Given the description of an element on the screen output the (x, y) to click on. 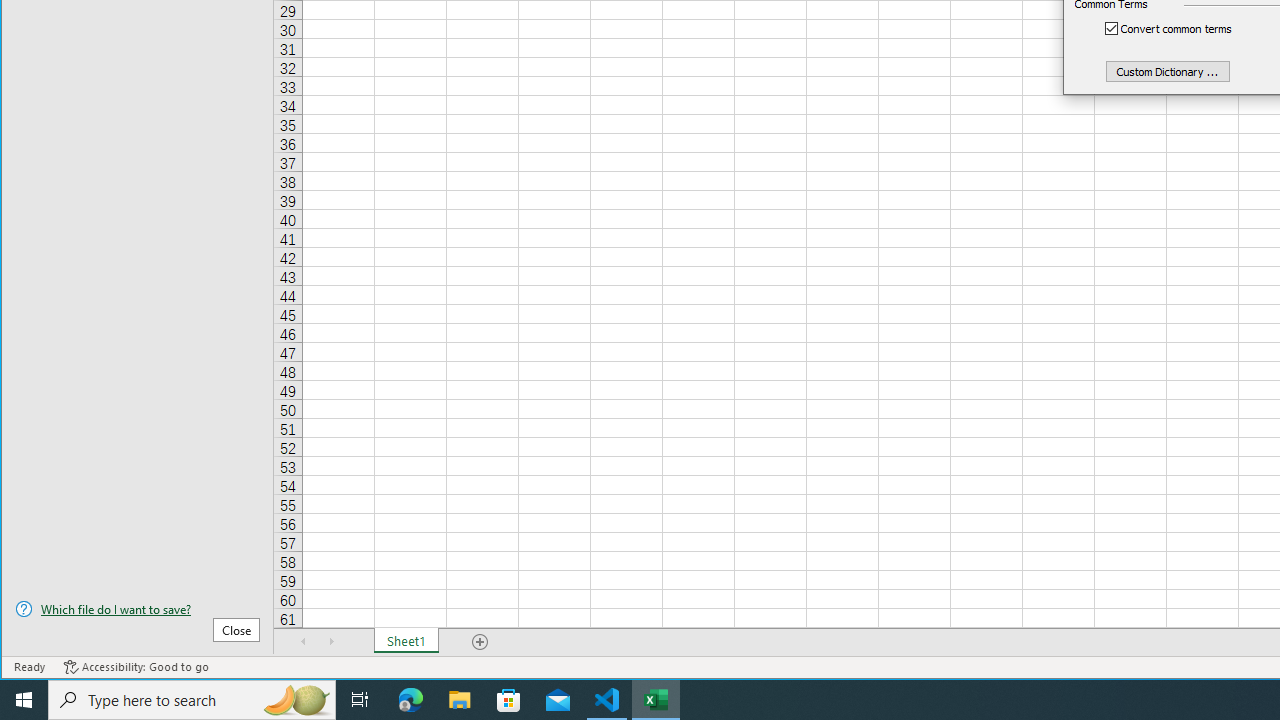
Microsoft Store (509, 699)
Search highlights icon opens search home window (295, 699)
Excel - 1 running window (656, 699)
Task View (359, 699)
File Explorer (460, 699)
Visual Studio Code - 1 running window (607, 699)
Convert common terms (1179, 28)
